Given the description of an element on the screen output the (x, y) to click on. 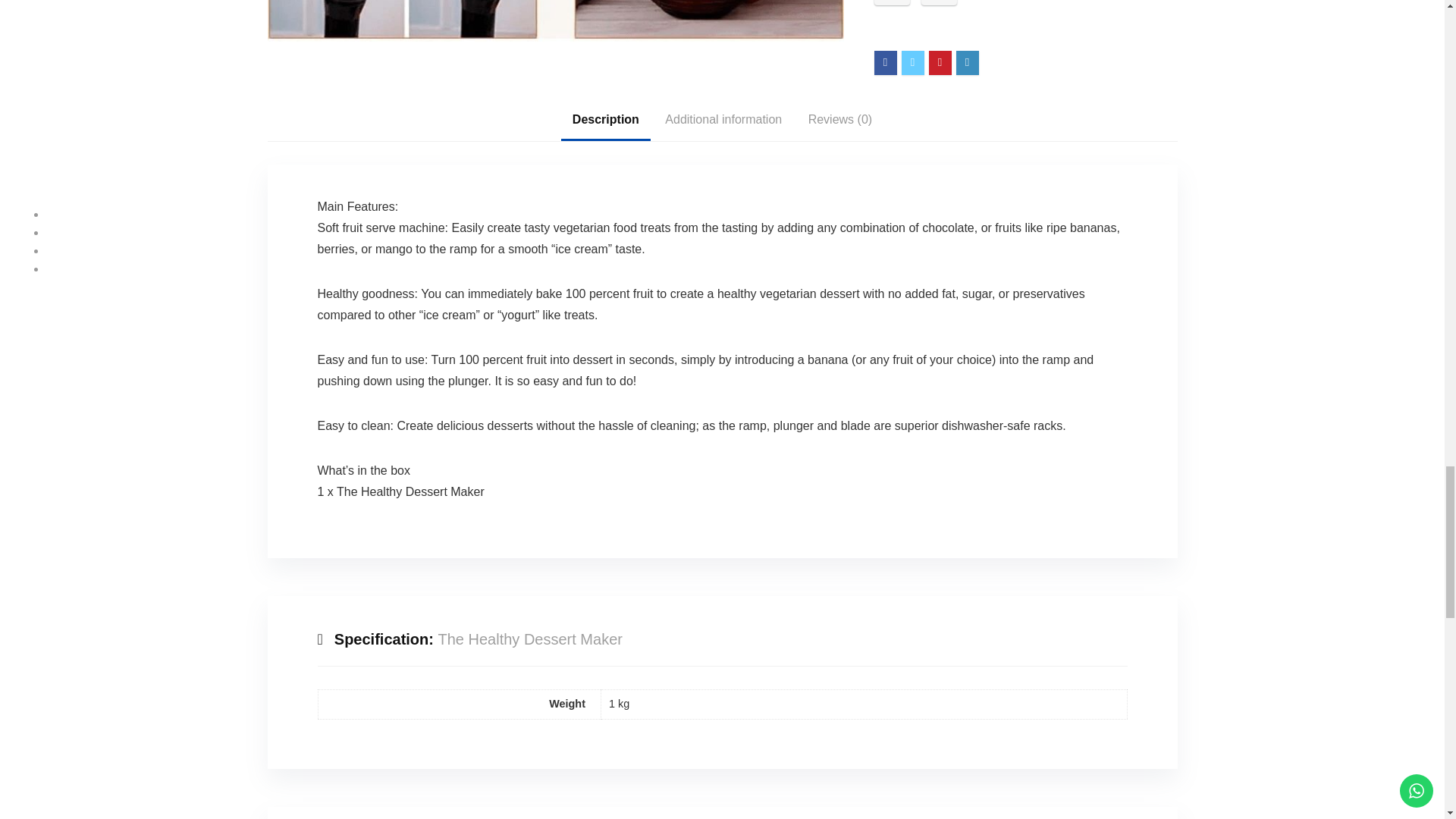
Description (605, 119)
Additional information (723, 119)
